Given the description of an element on the screen output the (x, y) to click on. 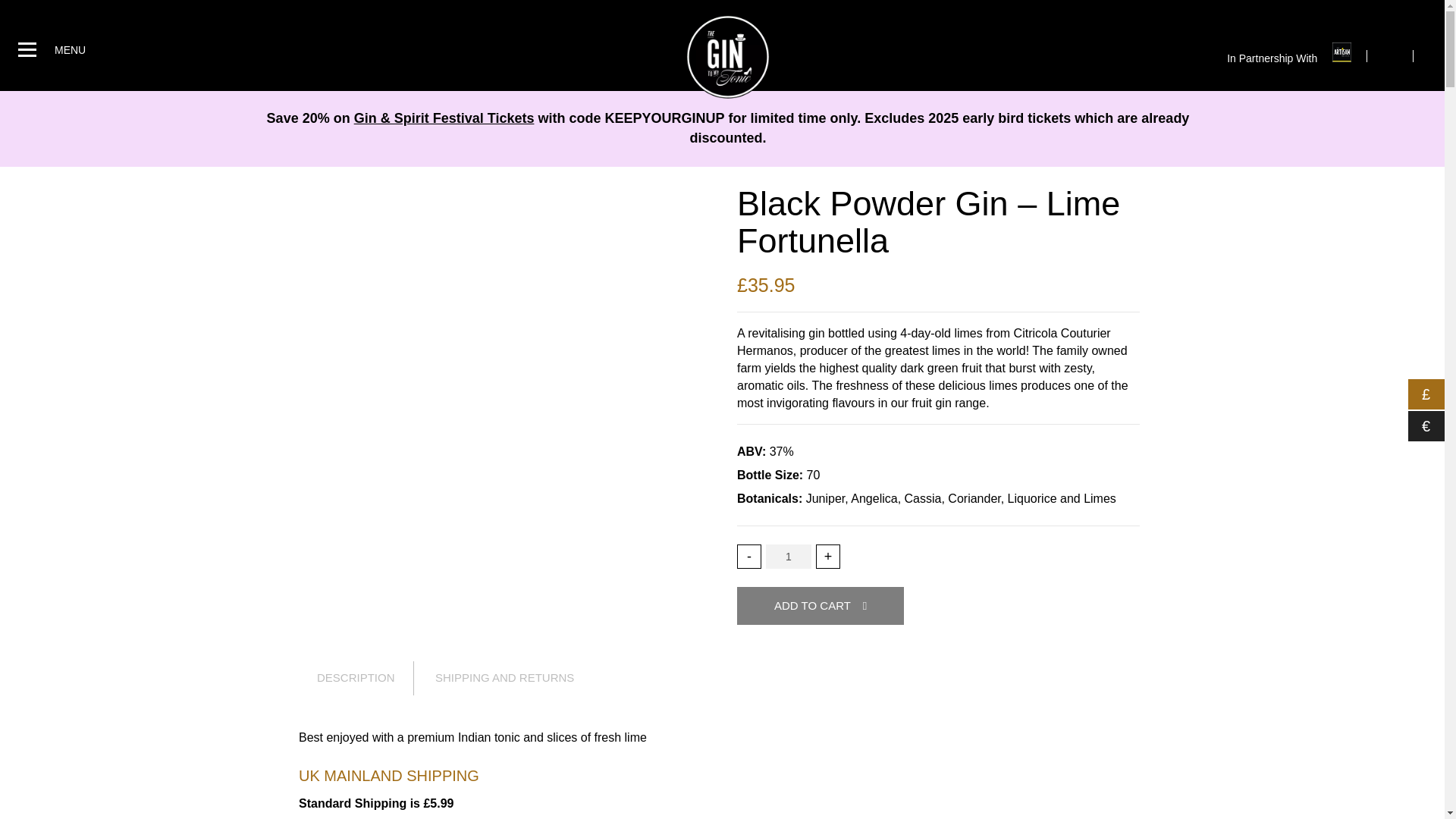
ADD TO CART (820, 606)
Qty (787, 556)
1 (787, 556)
DESCRIPTION (365, 677)
SHIPPING AND RETURNS (504, 677)
